Given the description of an element on the screen output the (x, y) to click on. 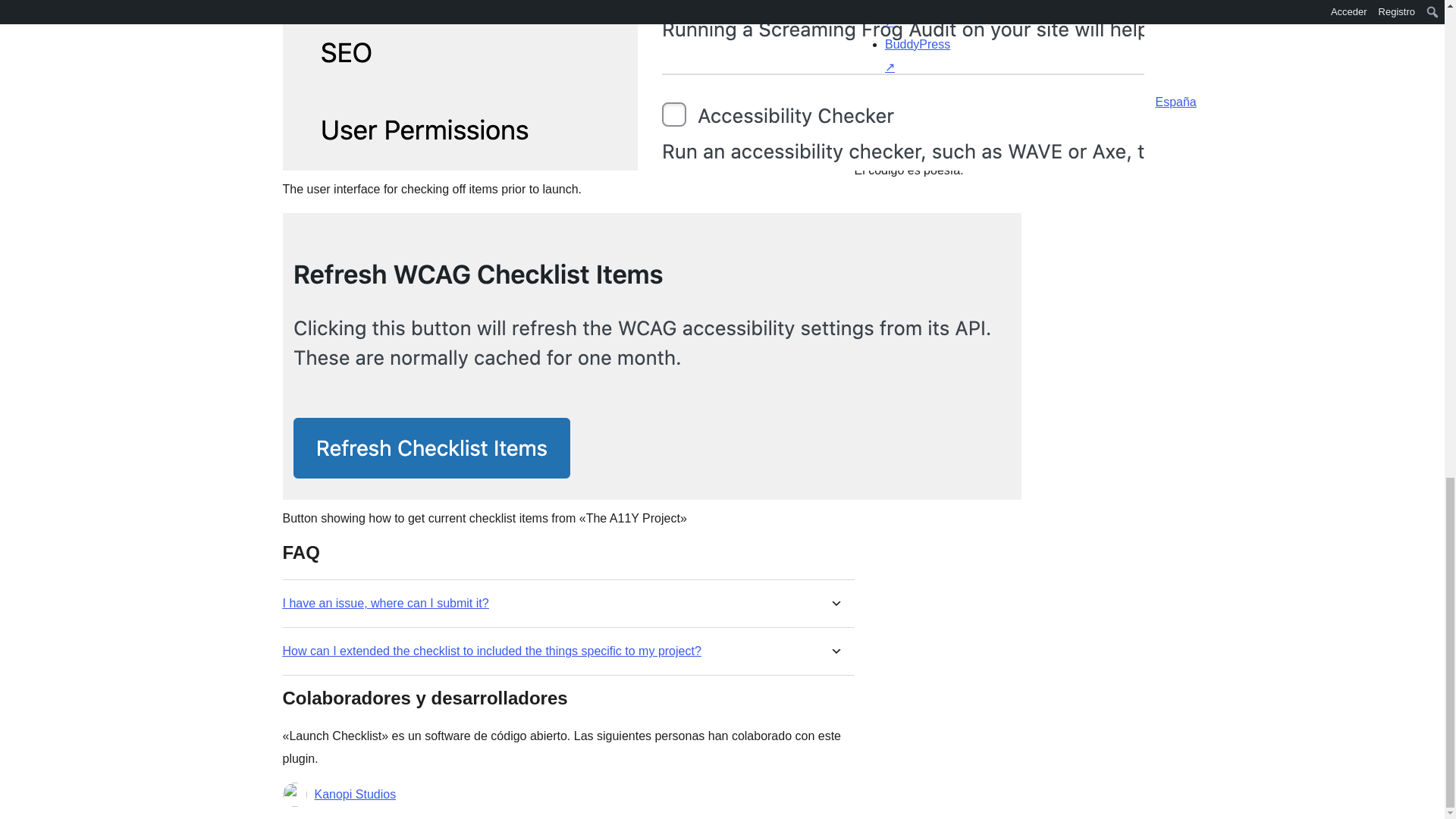
WordPress.org (1014, 97)
WordPress.org (864, 97)
